Given the description of an element on the screen output the (x, y) to click on. 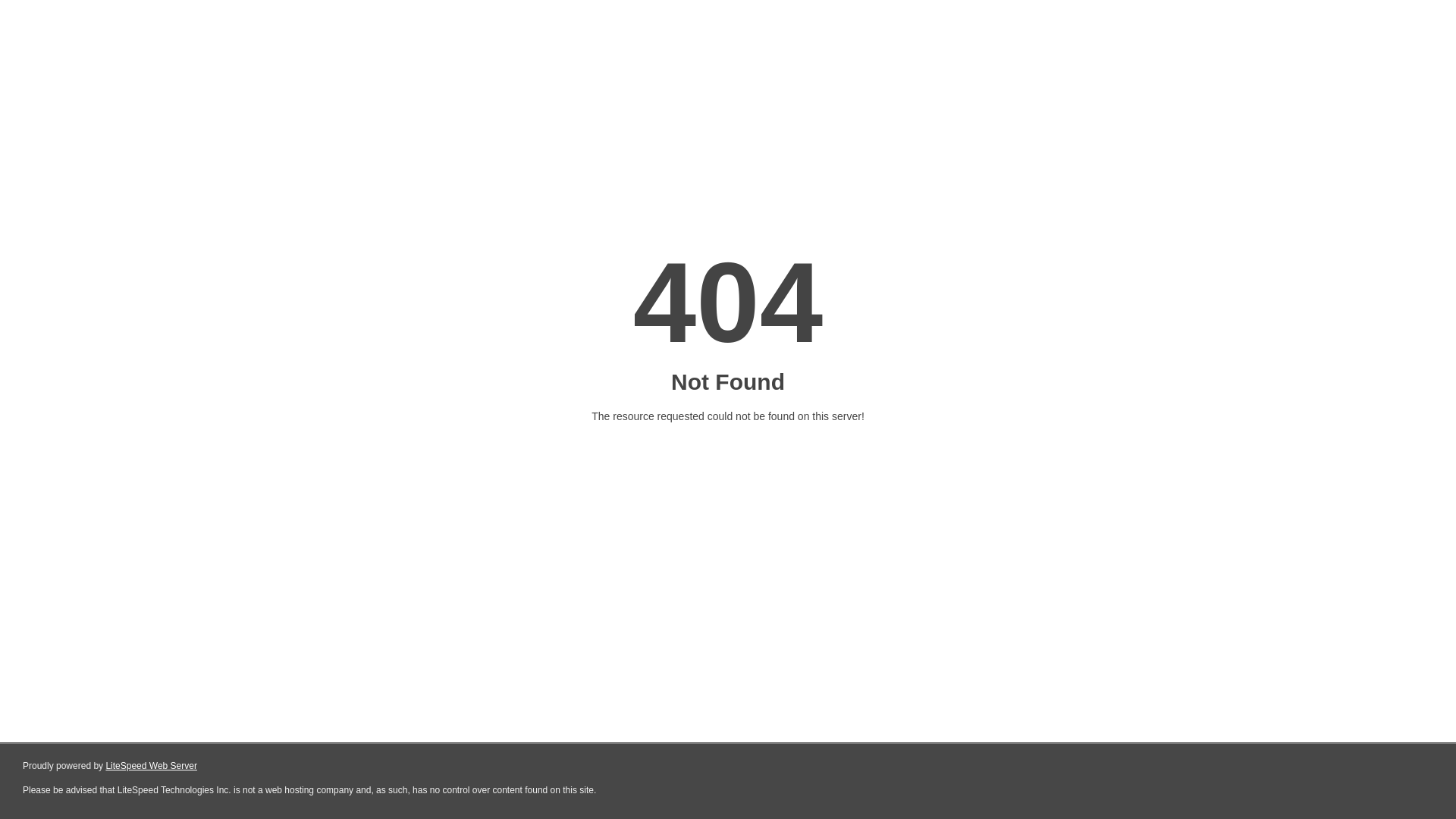
LiteSpeed Web Server Element type: text (151, 765)
